Given the description of an element on the screen output the (x, y) to click on. 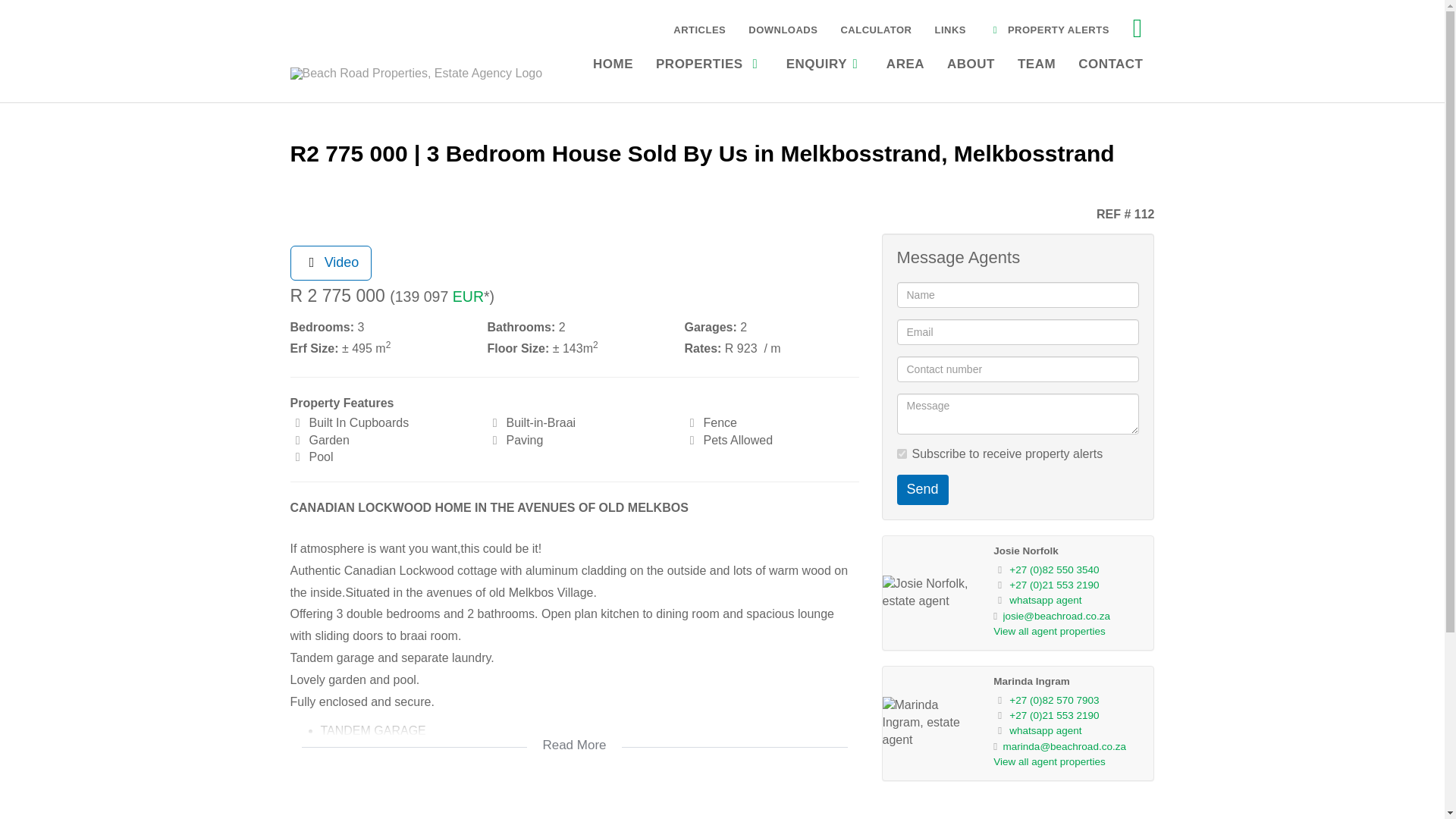
DOWNLOADS (782, 28)
ENQUIRY (824, 62)
 PROPERTY ALERTS (1048, 28)
LINKS (950, 28)
ARTICLES (699, 28)
TEAM (1036, 62)
CALCULATOR (875, 28)
Beach Road Properties, Estate Agency Logo (415, 73)
Read More (574, 735)
CONTACT (1110, 62)
AREA (905, 62)
on (900, 453)
PROPERTIES (709, 62)
HOME (612, 62)
google map (574, 801)
